Given the description of an element on the screen output the (x, y) to click on. 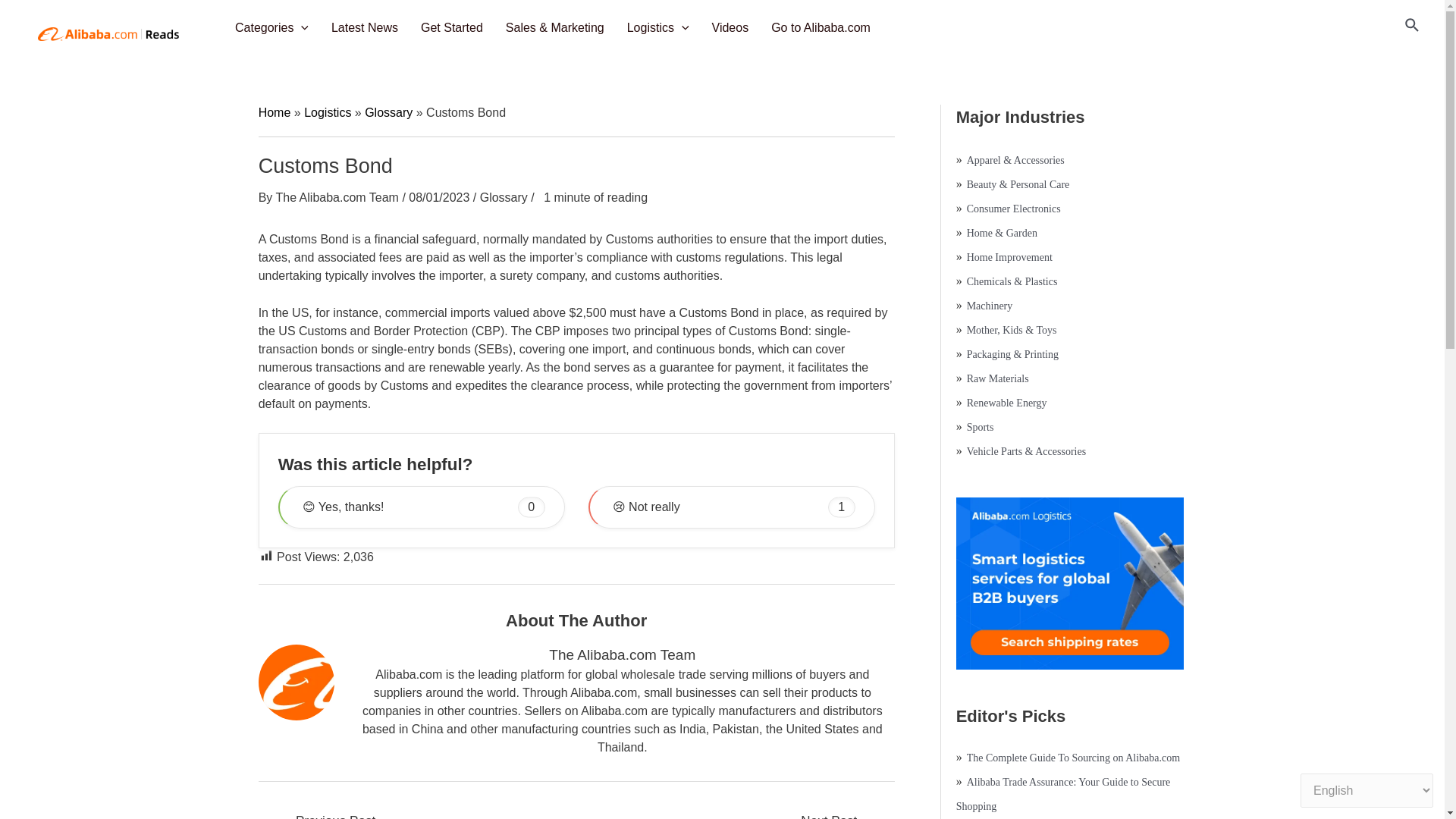
Go to Alibaba.com (823, 27)
Videos (734, 27)
Search (1413, 25)
Categories (275, 27)
Logistics (662, 27)
View all posts by The Alibaba.com Team (338, 196)
Latest News (368, 27)
Get Started (455, 27)
